Given the description of an element on the screen output the (x, y) to click on. 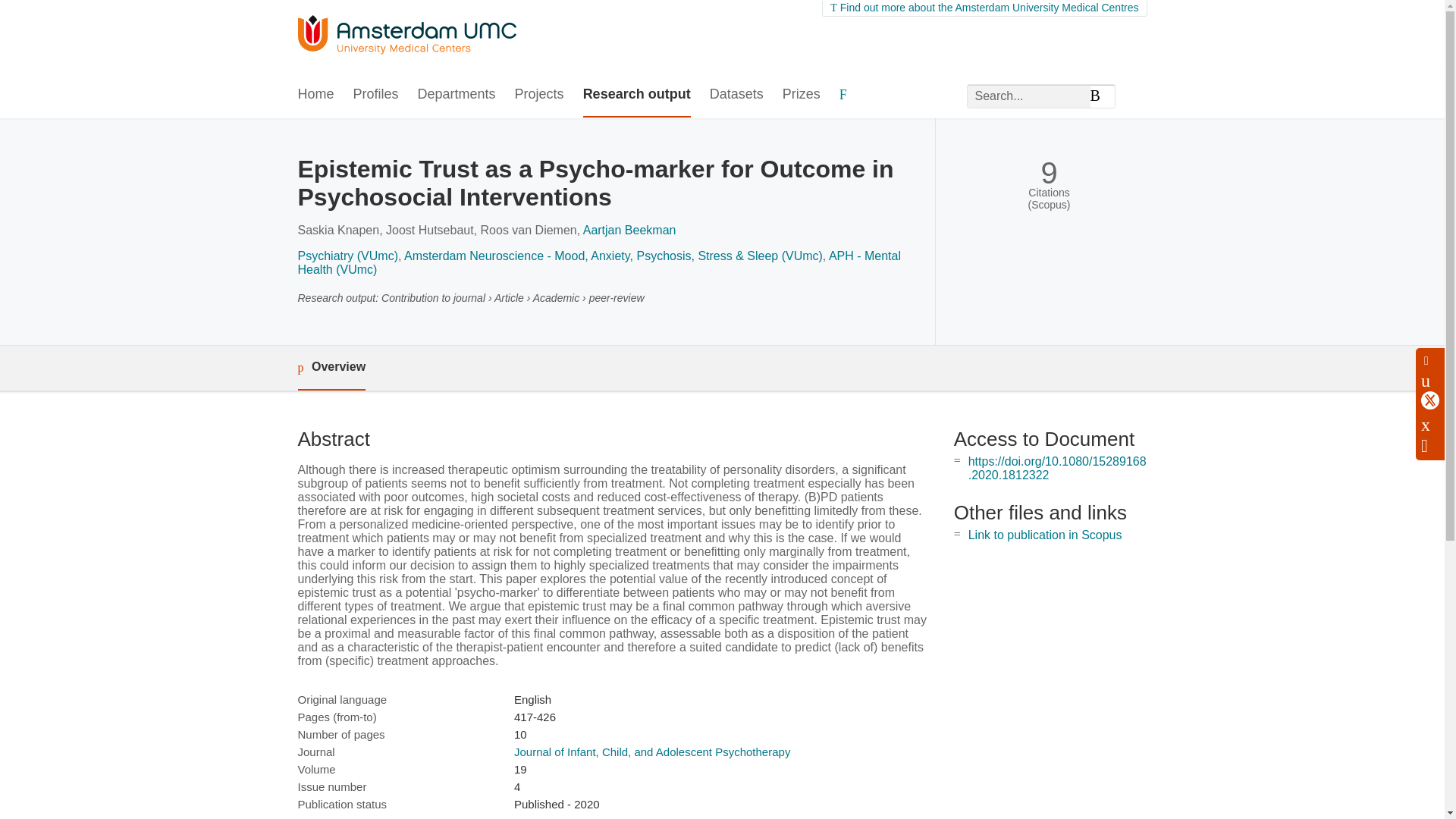
Find out more about the Amsterdam University Medical Centres (983, 7)
Journal of Infant, Child, and Adolescent Psychotherapy (651, 751)
Overview (331, 367)
Departments (456, 94)
Link to publication in Scopus (1045, 534)
Aartjan Beekman (630, 229)
Projects (539, 94)
Amsterdam UMC research portal Home (406, 36)
Research output (636, 94)
